Given the description of an element on the screen output the (x, y) to click on. 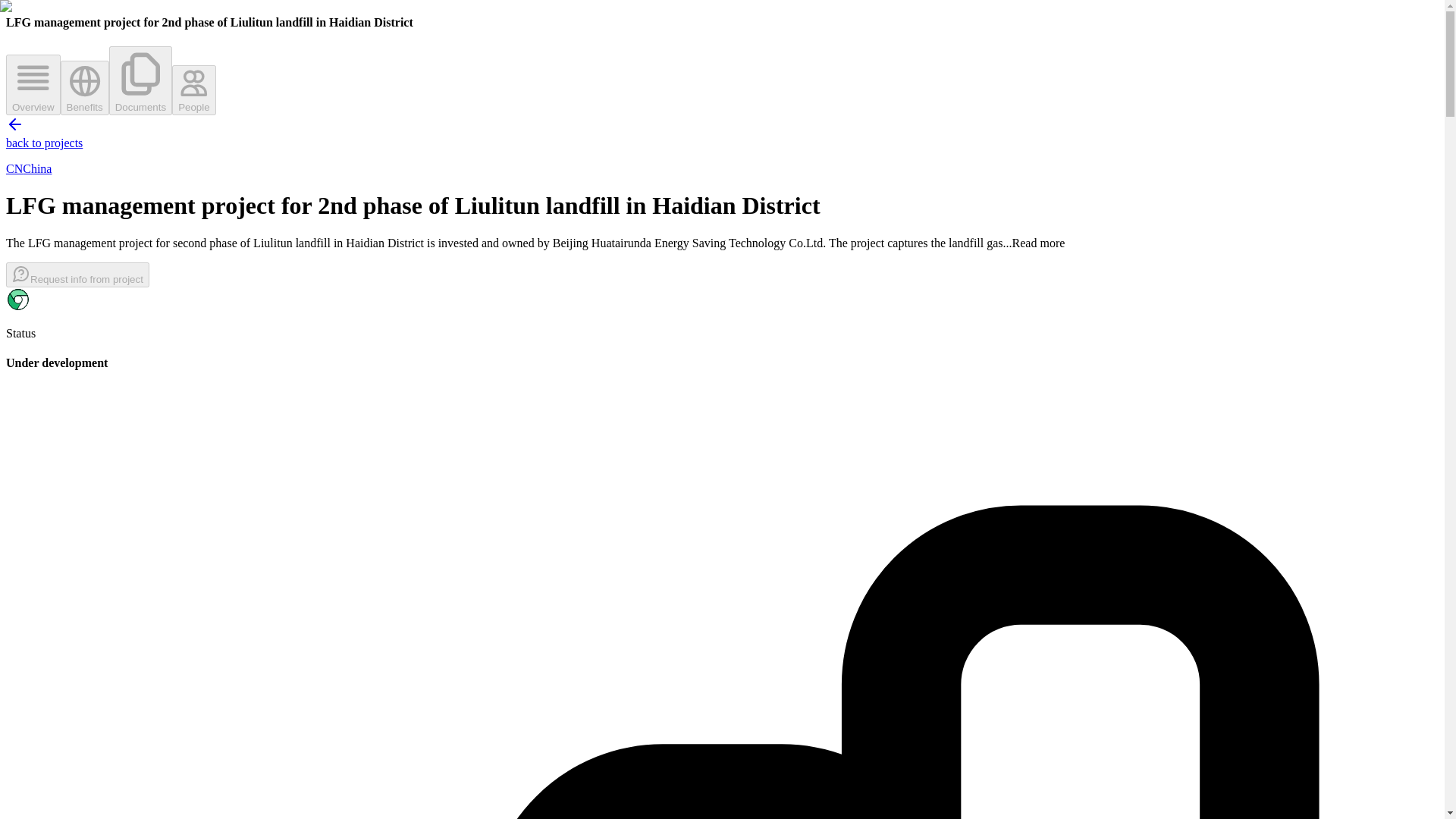
China (186, 203)
back to projects (202, 182)
Request info from project (1206, 545)
Overview (903, 545)
Documents (254, 440)
